Given the description of an element on the screen output the (x, y) to click on. 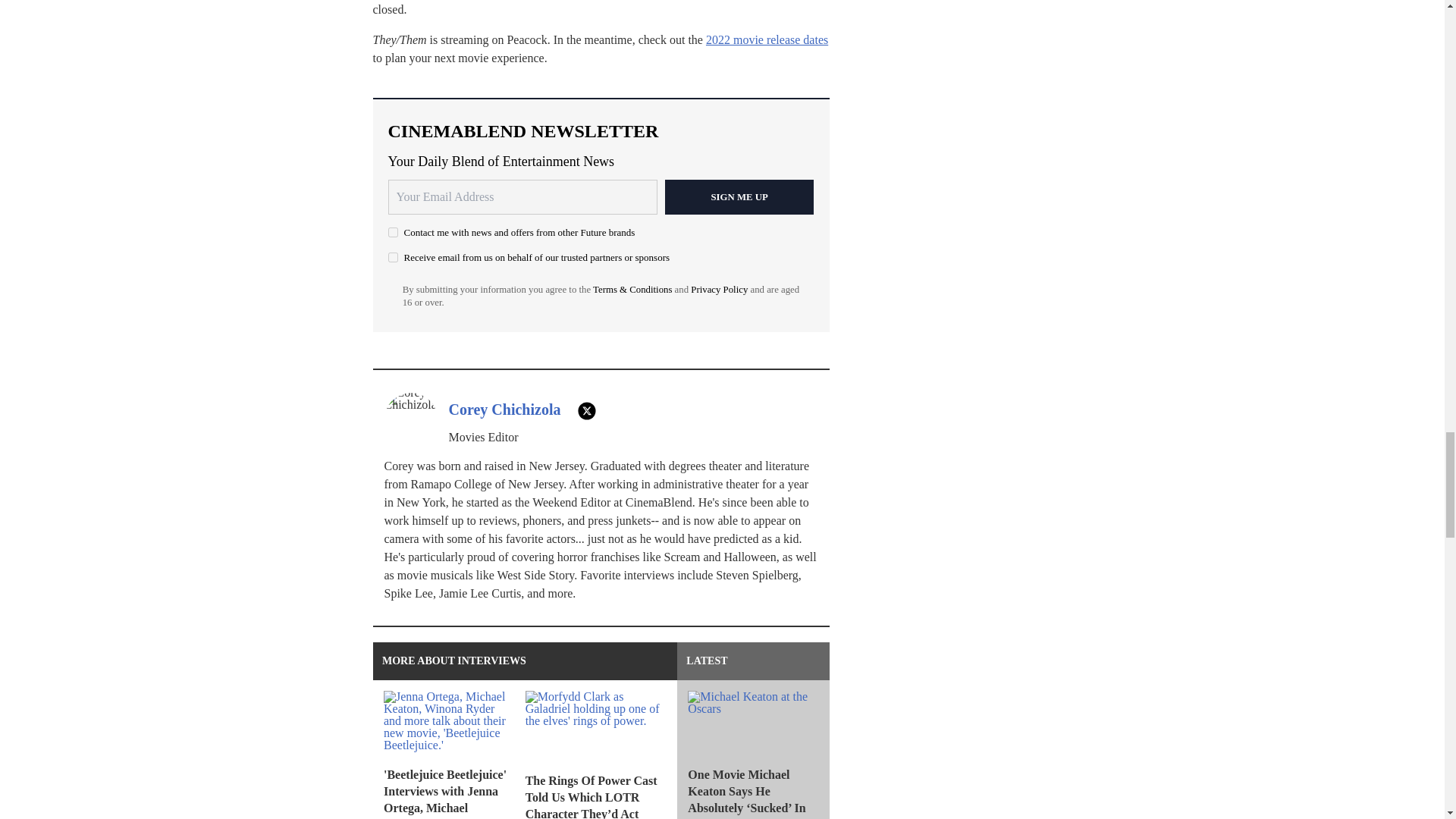
Sign me up (739, 196)
on (392, 232)
on (392, 257)
